Given the description of an element on the screen output the (x, y) to click on. 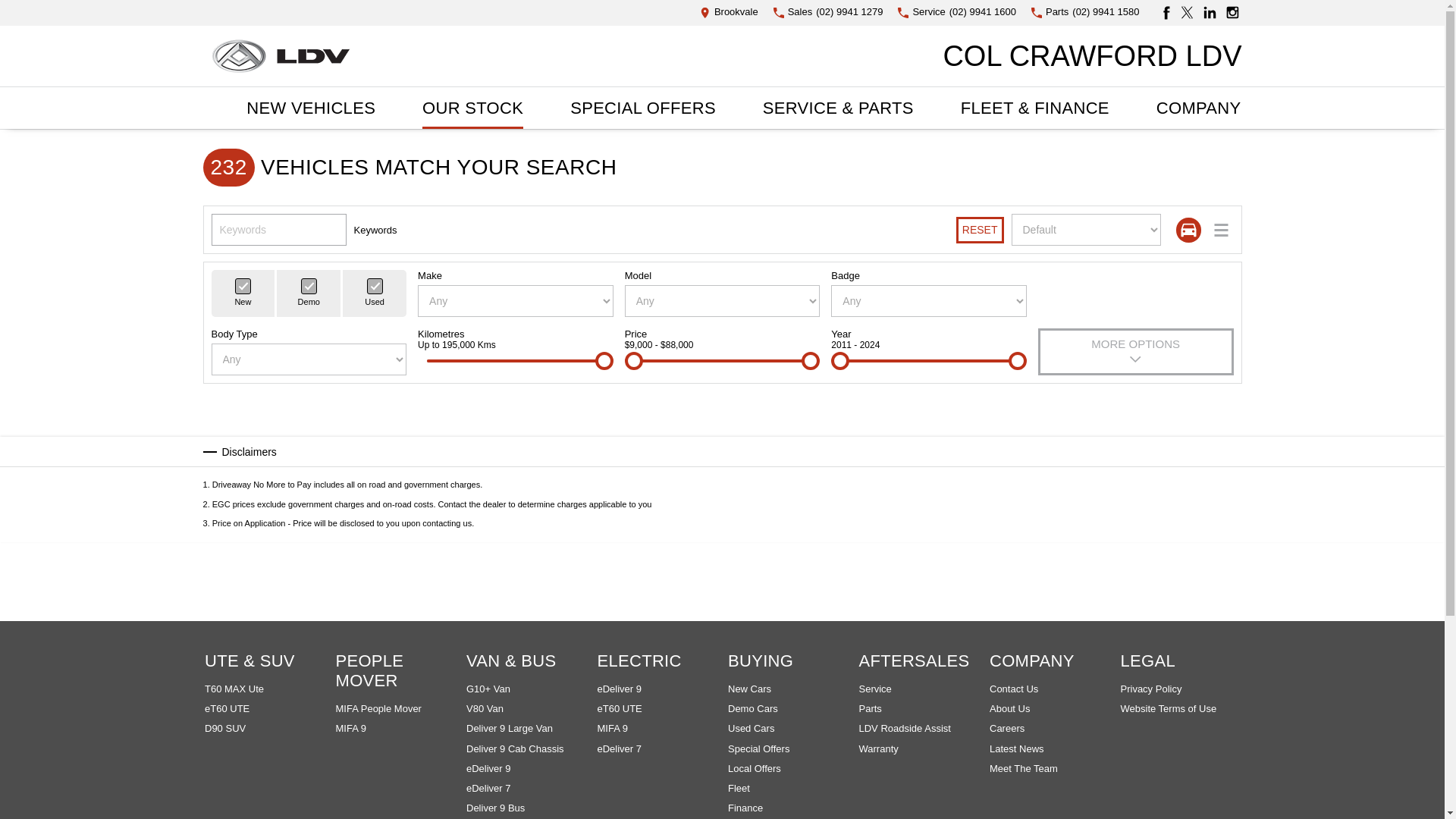
Used (374, 285)
SPECIAL OFFERS (642, 107)
COL CRAWFORD LDV (1091, 55)
Brookvale (729, 12)
OUR STOCK (472, 107)
New (242, 285)
Demo (309, 285)
NEW VEHICLES (310, 107)
